Given the description of an element on the screen output the (x, y) to click on. 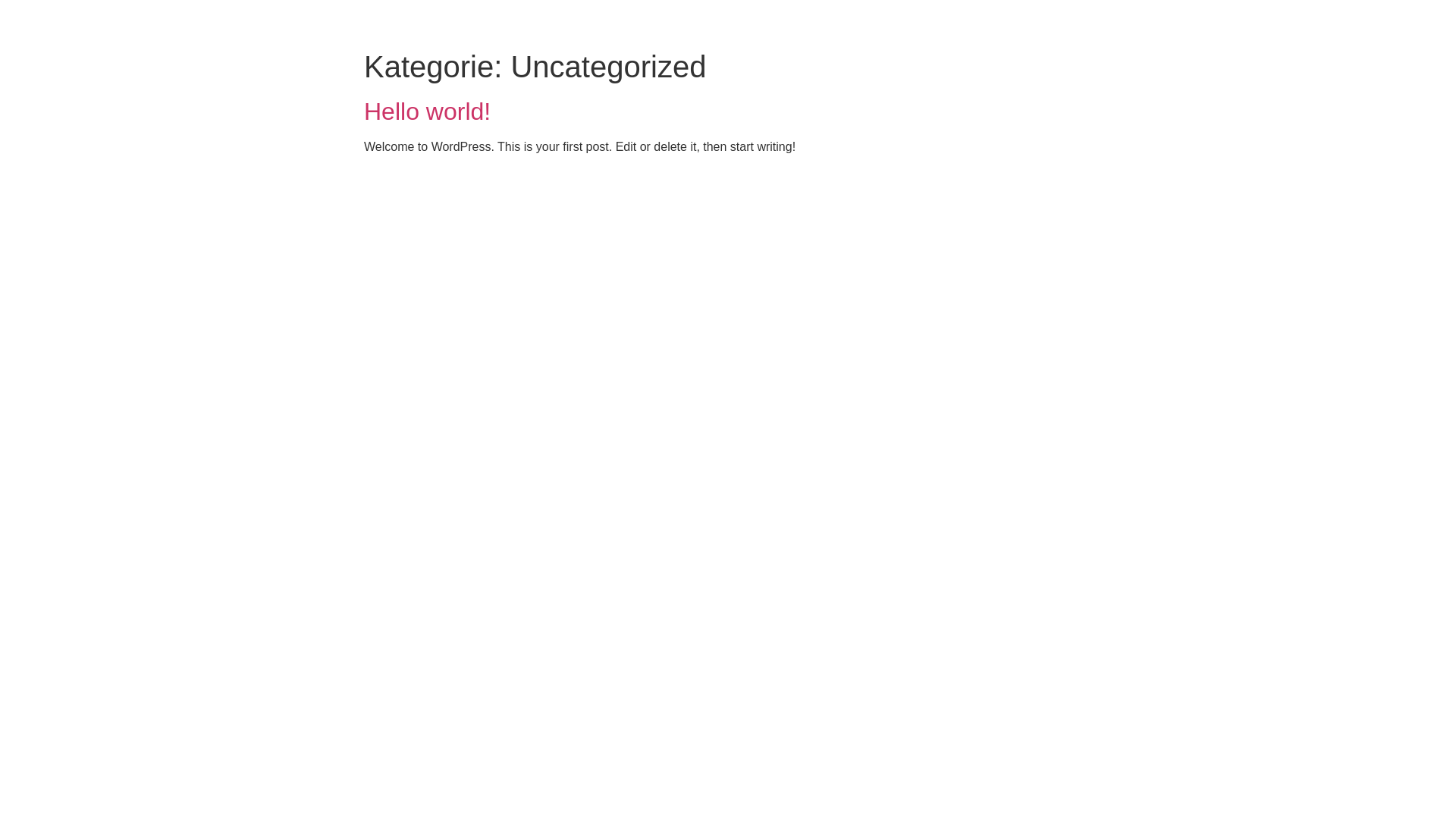
Hello world! Element type: text (427, 111)
